Given the description of an element on the screen output the (x, y) to click on. 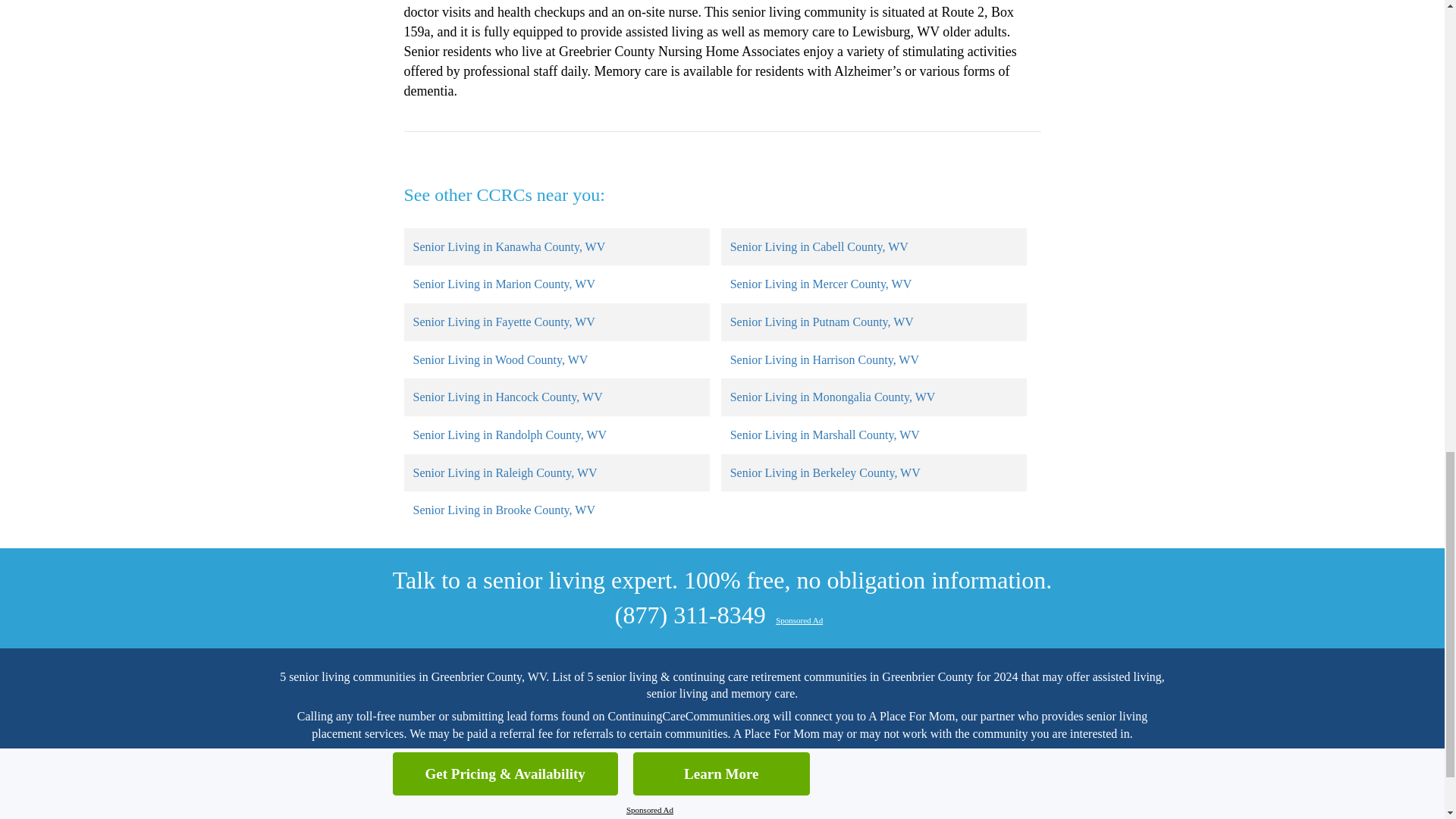
Sponsored Ad (799, 620)
Senior Living in Marion County, WV (503, 283)
Senior Living in Kanawha County, WV (508, 246)
Senior Living in Berkeley County, WV (825, 472)
Senior Living in Putnam County, WV (822, 321)
Senior Living in Cabell County, WV (819, 246)
Senior Living in Hancock County, WV (507, 396)
Senior Living in Brooke County, WV (503, 509)
Senior Living in Marion County, WV (503, 283)
Senior Living in Kanawha County, WV (508, 246)
